Given the description of an element on the screen output the (x, y) to click on. 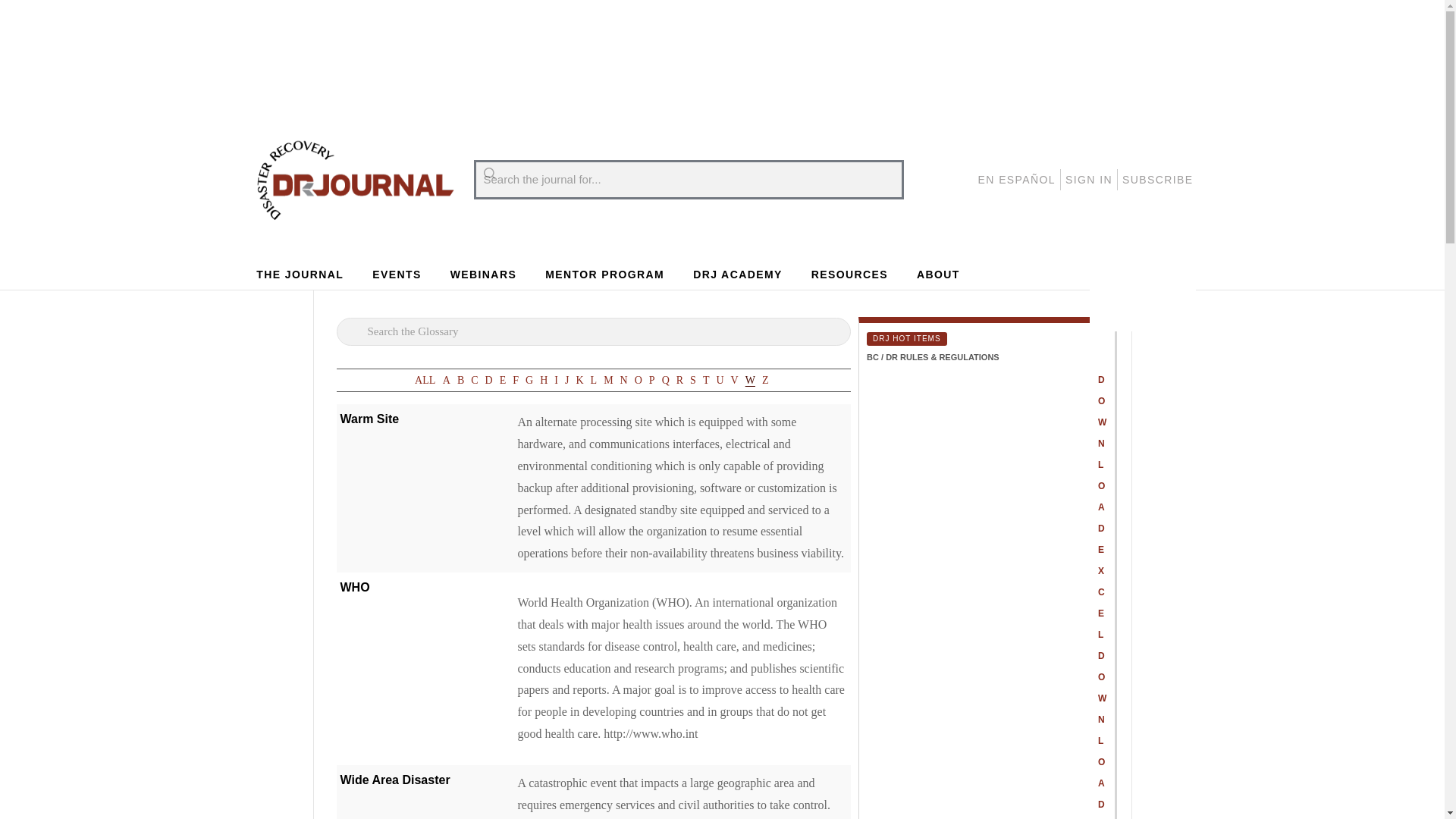
Search the journal for... (687, 179)
THE JOURNAL (299, 274)
EVENTS (396, 274)
DRJ ACADEMY (737, 274)
WEBINARS (482, 274)
SUBSCRIBE (1158, 179)
SIGN IN (1089, 179)
MENTOR PROGRAM (604, 274)
